Given the description of an element on the screen output the (x, y) to click on. 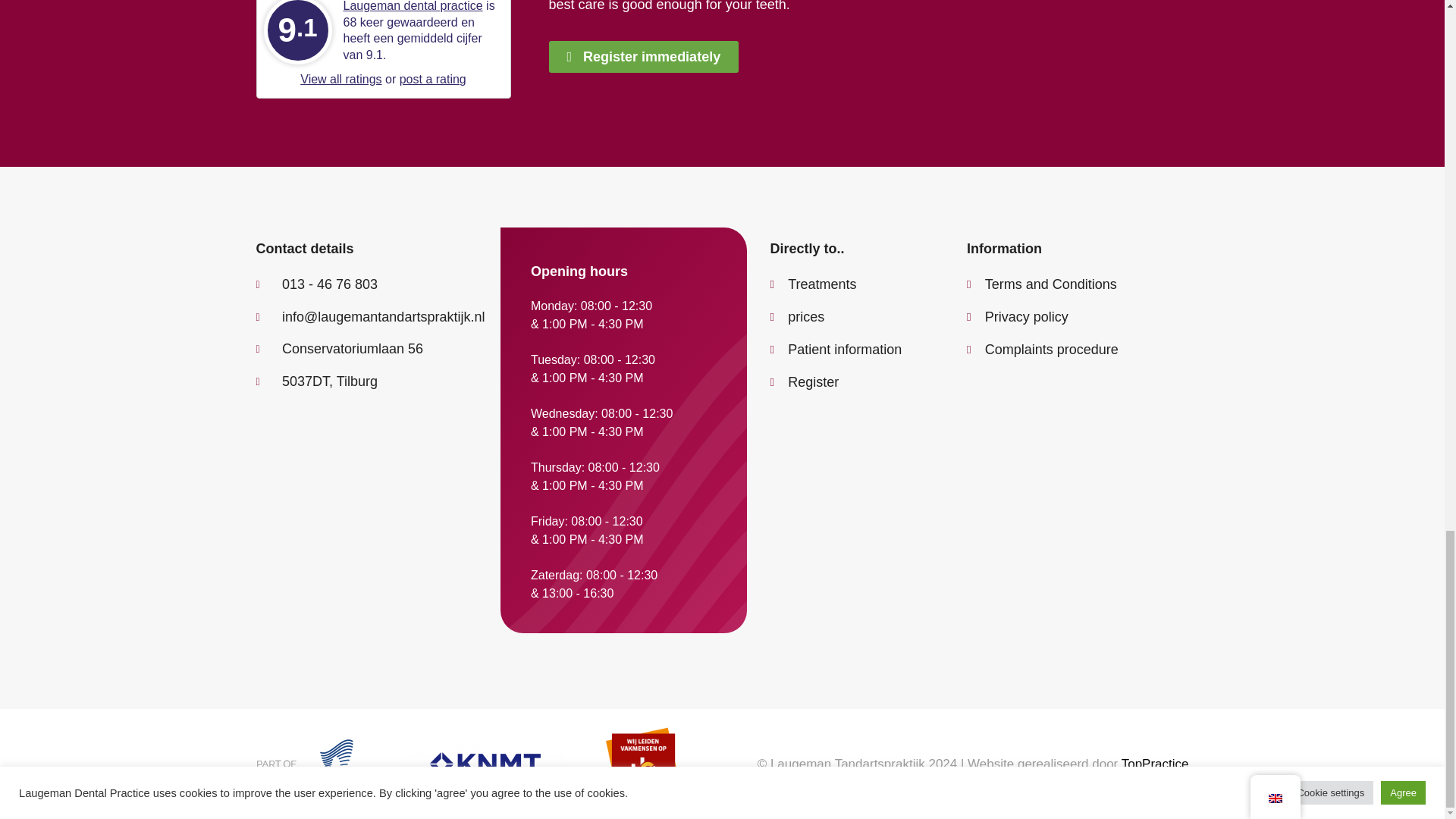
View all ratings (340, 78)
View all ratings (340, 78)
post a rating (431, 78)
post a rating (431, 78)
Laugeman dental practice (411, 6)
Laugeman dental practice (411, 6)
Website door TopPraktijk (1155, 763)
